Given the description of an element on the screen output the (x, y) to click on. 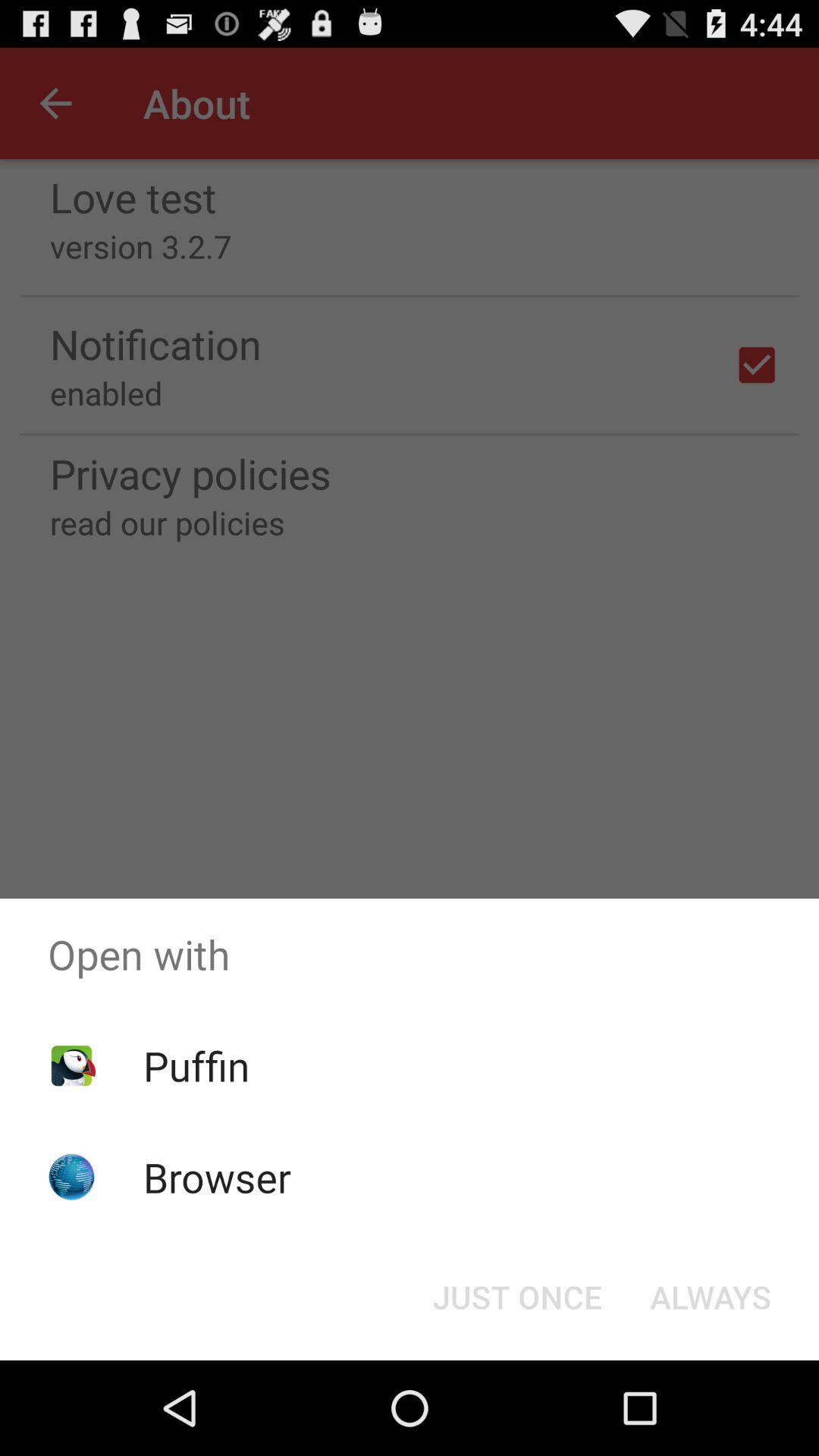
jump to just once (517, 1296)
